Given the description of an element on the screen output the (x, y) to click on. 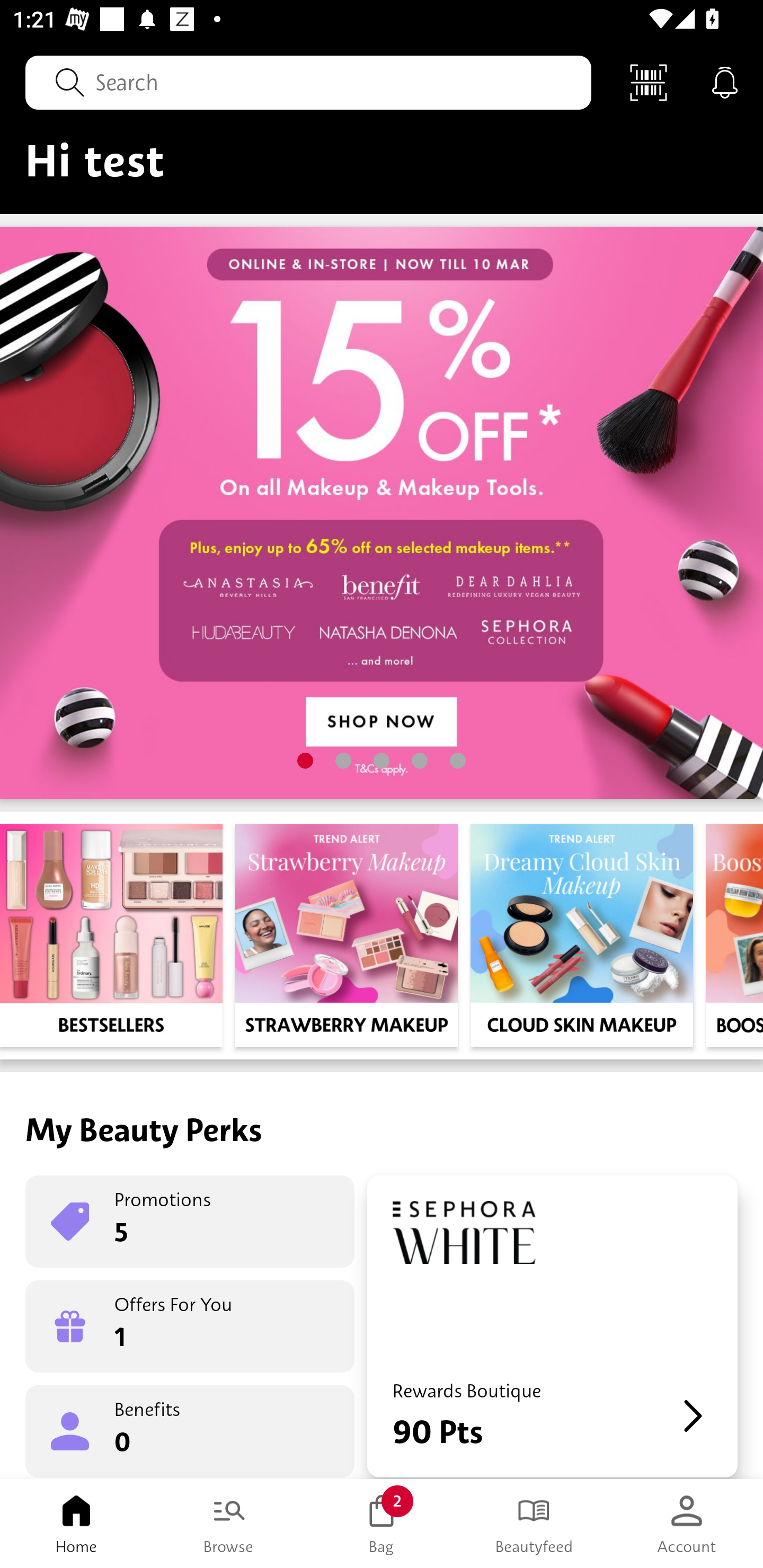
Scan Code (648, 81)
Notifications (724, 81)
Search (308, 81)
Promotions 5 (189, 1221)
Rewards Boutique 90 Pts (552, 1326)
Offers For You 1 (189, 1326)
Benefits 0 (189, 1430)
Browse (228, 1523)
Bag 2 Bag (381, 1523)
Beautyfeed (533, 1523)
Account (686, 1523)
